Given the description of an element on the screen output the (x, y) to click on. 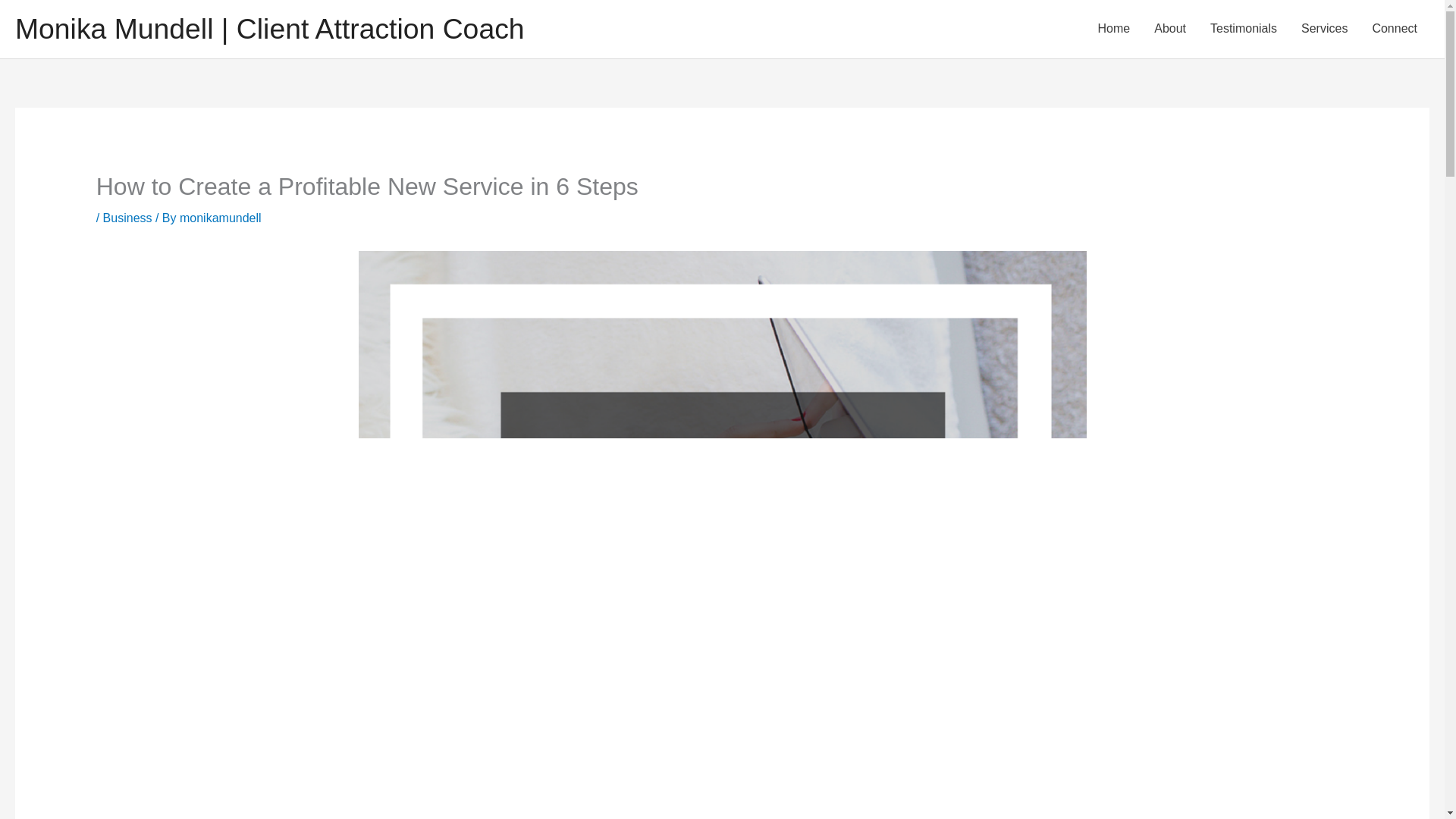
Services (1323, 29)
monikamundell (220, 217)
Testimonials (1243, 29)
Connect (1394, 29)
Business (127, 217)
View all posts by monikamundell (220, 217)
About (1169, 29)
Home (1114, 29)
